Given the description of an element on the screen output the (x, y) to click on. 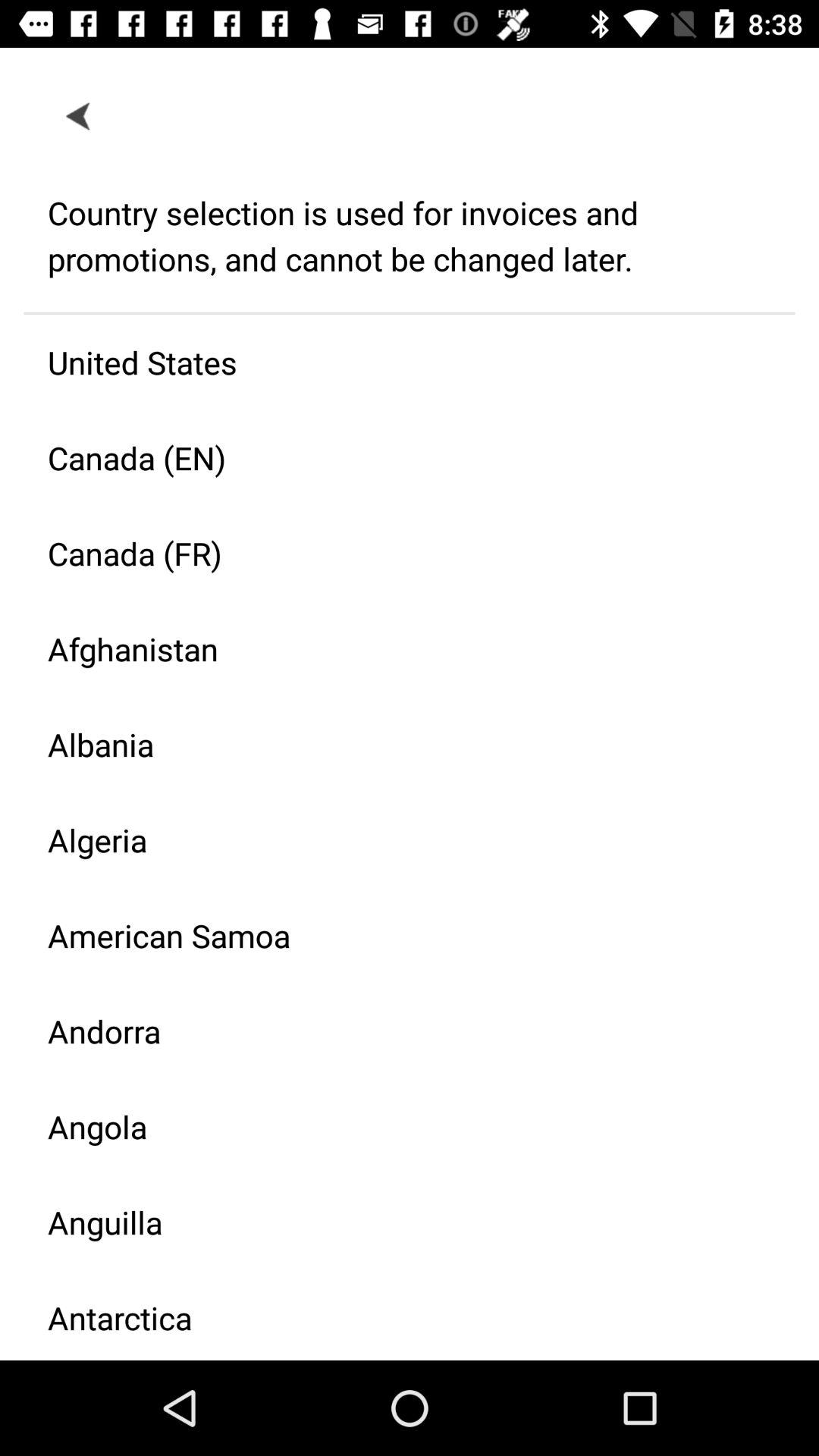
choose american samoa (397, 935)
